Given the description of an element on the screen output the (x, y) to click on. 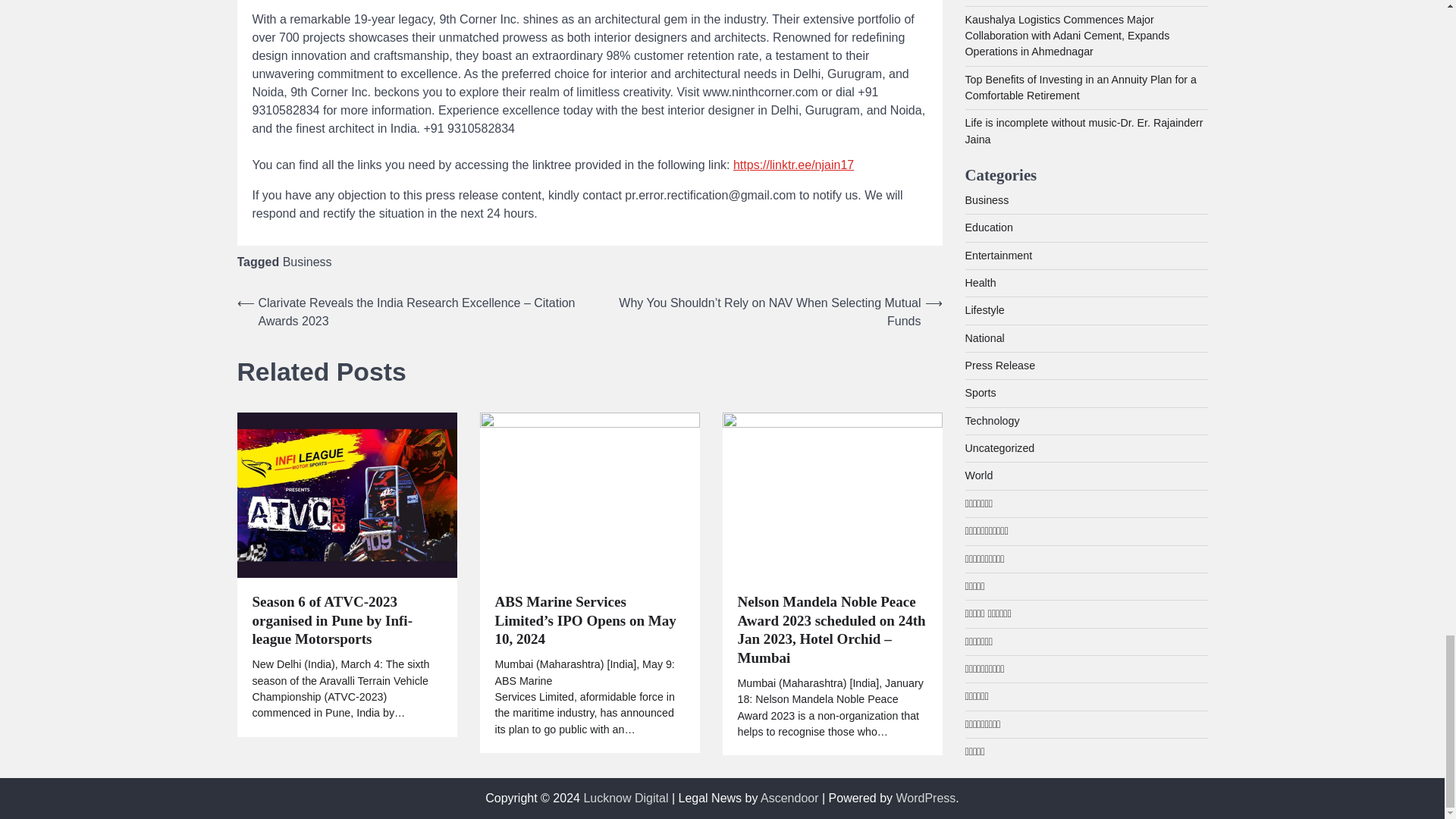
Business (306, 261)
